Given the description of an element on the screen output the (x, y) to click on. 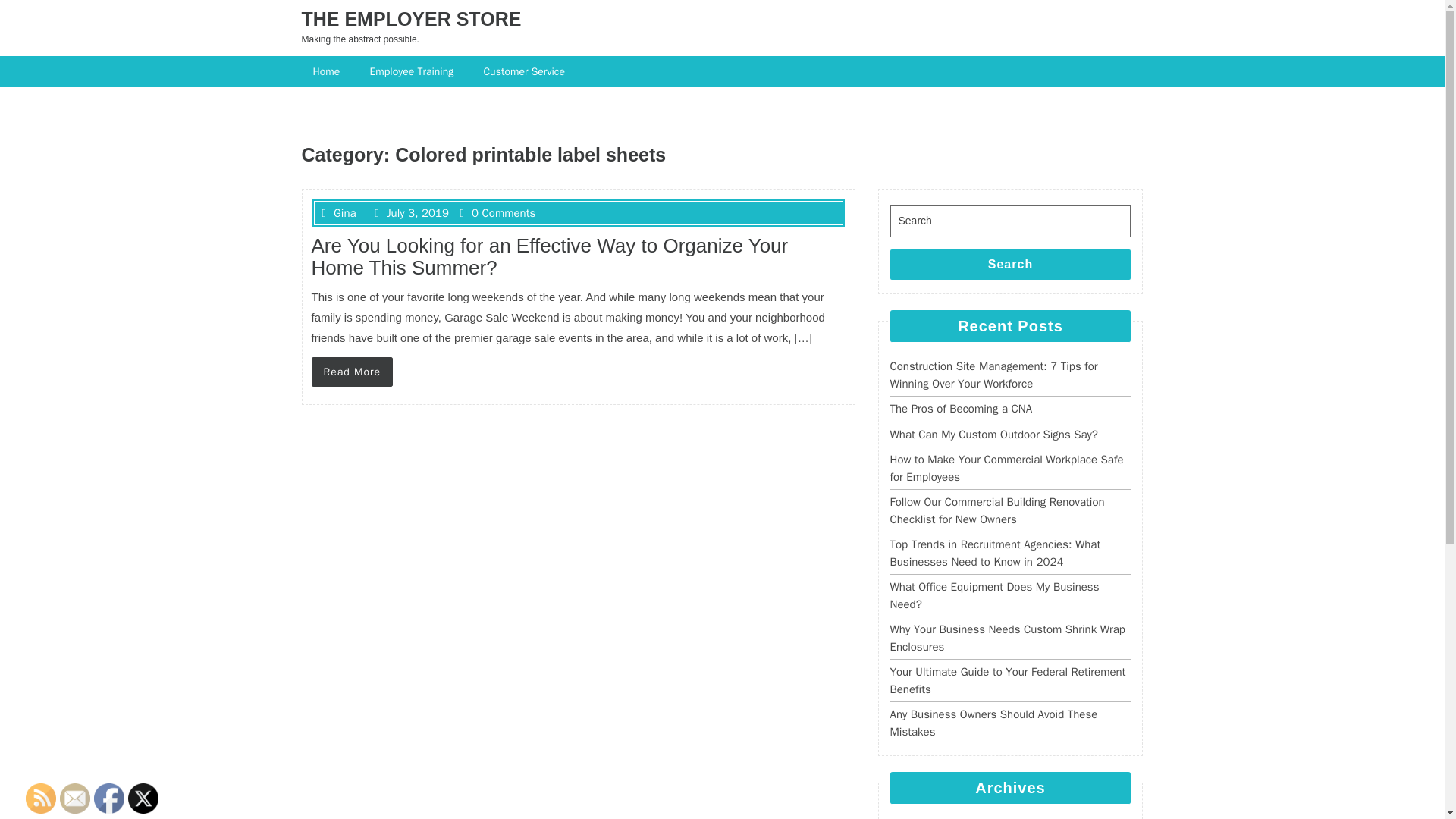
What Office Equipment Does My Business Need? (994, 594)
Customer Service (525, 71)
RSS (41, 797)
How to Make Your Commercial Workplace Safe for Employees (1006, 468)
The Pros of Becoming a CNA (960, 408)
Read More (352, 371)
Employee Training (413, 71)
Home (328, 71)
Gina (338, 213)
Facebook (108, 797)
Read More (352, 371)
Follow by Email (74, 797)
Your Ultimate Guide to Your Federal Retirement Benefits (1007, 680)
